Given the description of an element on the screen output the (x, y) to click on. 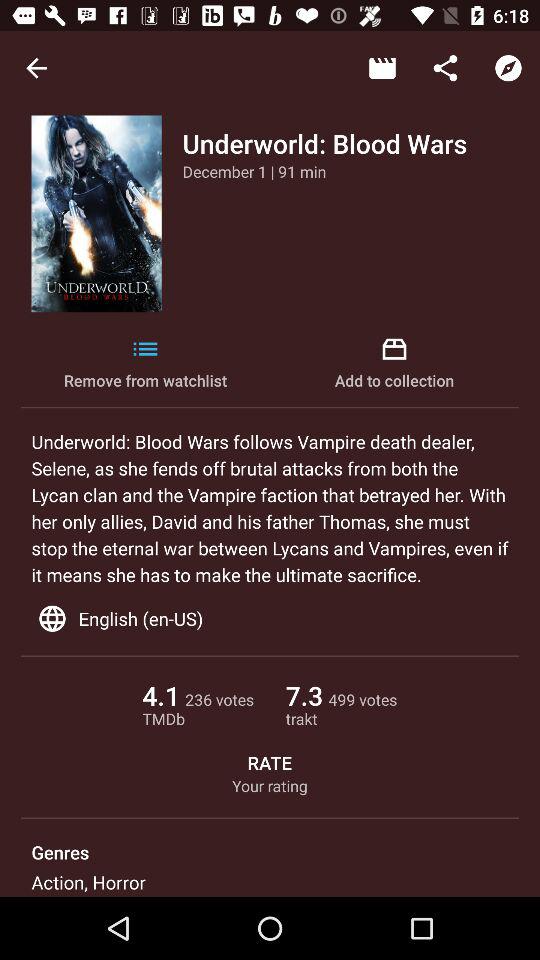
turn on december 1 91 icon (254, 171)
